Given the description of an element on the screen output the (x, y) to click on. 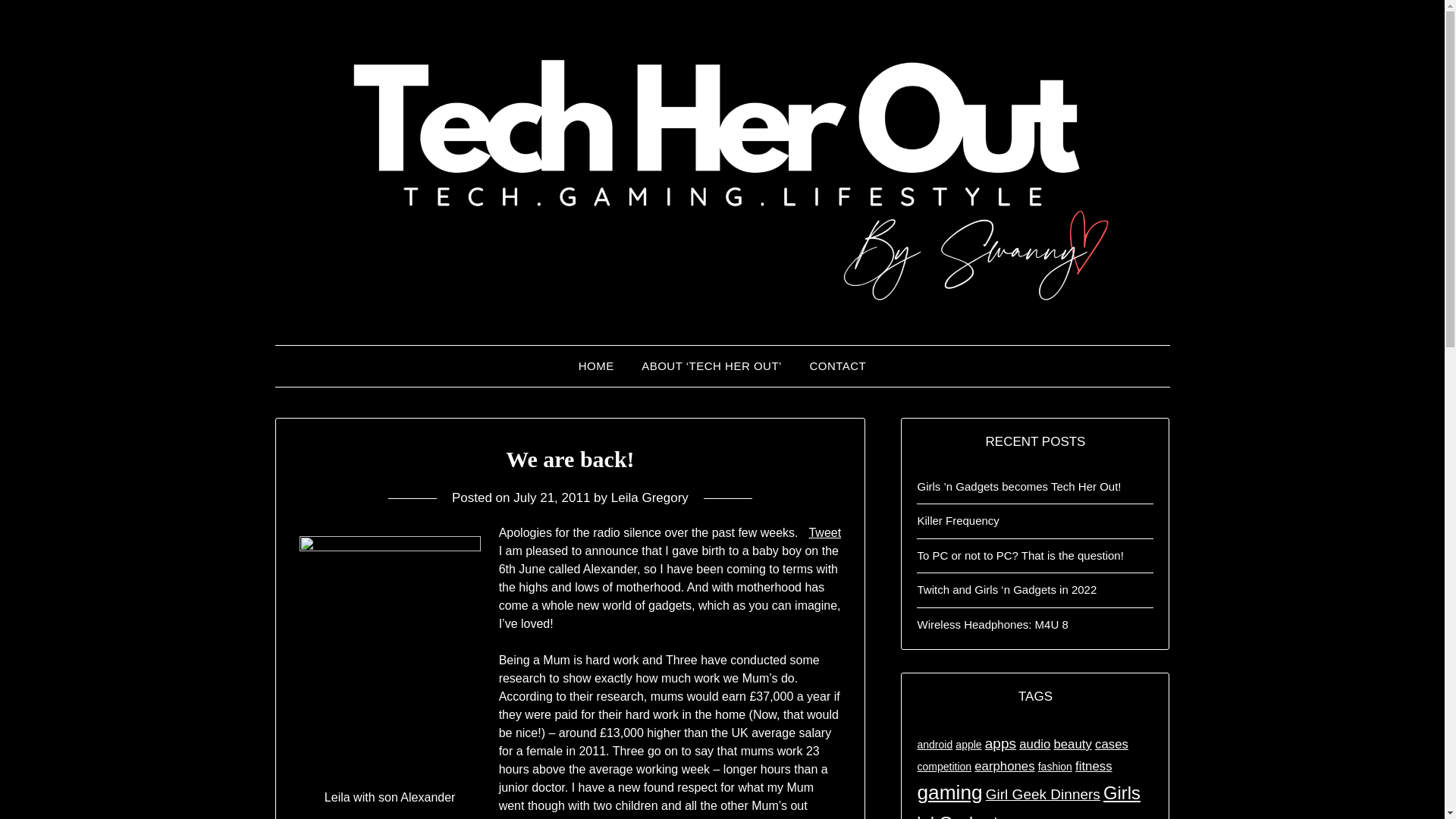
earphones (1003, 766)
android (934, 744)
To PC or not to PC? That is the question! (1019, 554)
fitness (1093, 766)
HOME (596, 365)
Girl Geek Dinners (1042, 794)
cases (1111, 744)
July 21, 2011 (551, 497)
Leila Gregory (649, 497)
apps (1000, 743)
